Given the description of an element on the screen output the (x, y) to click on. 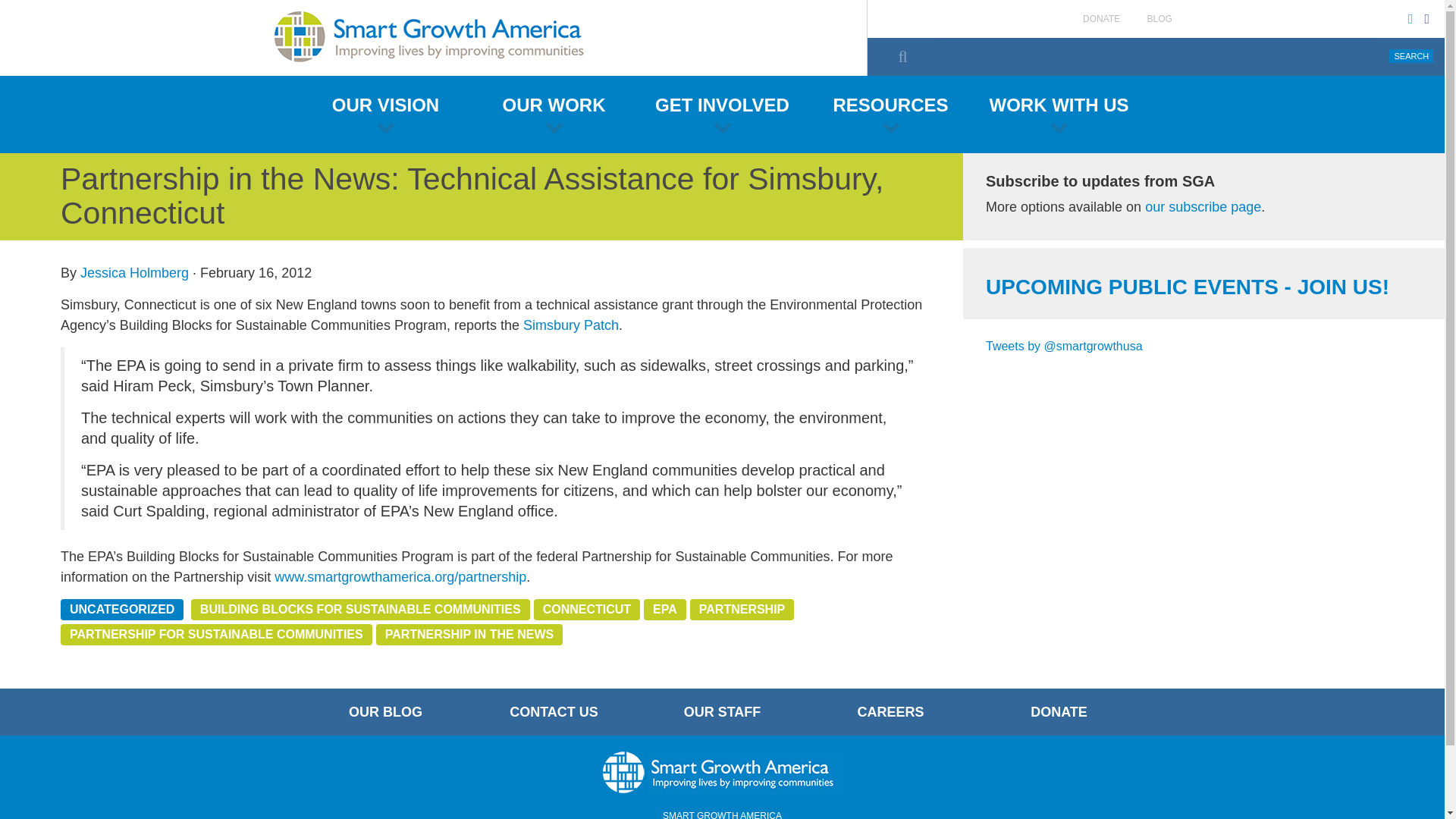
Facebook (1426, 18)
Follow us on Facebook (1426, 18)
CONNECTICUT (587, 608)
WORK WITH US (1058, 114)
our subscribe page (1202, 206)
OUR WORK (554, 114)
Follow us on Twitter (1410, 18)
BLOG (1159, 18)
Twitter (1410, 18)
PARTNERSHIP (742, 608)
Jessica Holmberg (134, 272)
GET INVOLVED (722, 114)
DONATE (1101, 18)
Simsbury Patch (570, 324)
PARTNERSHIP IN THE NEWS (469, 634)
